Given the description of an element on the screen output the (x, y) to click on. 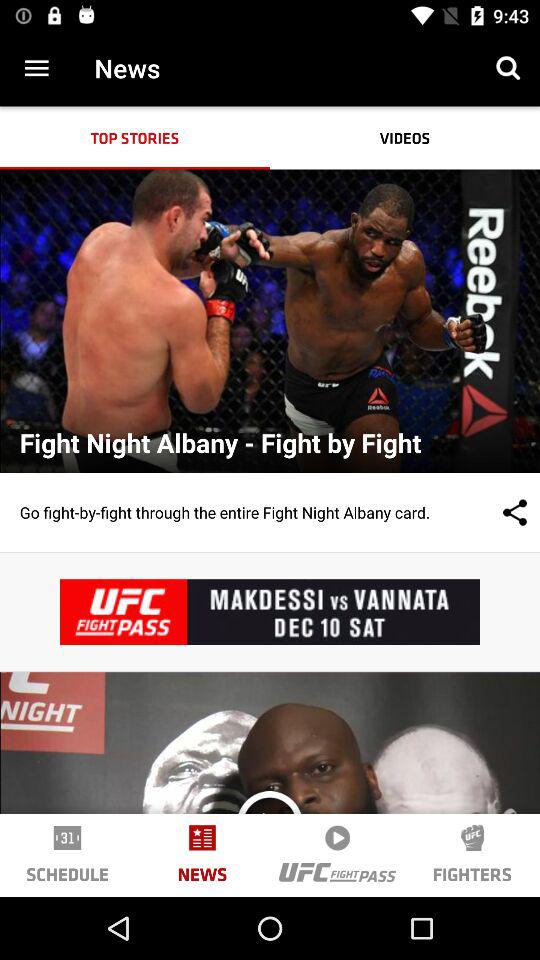
more option (36, 68)
